Given the description of an element on the screen output the (x, y) to click on. 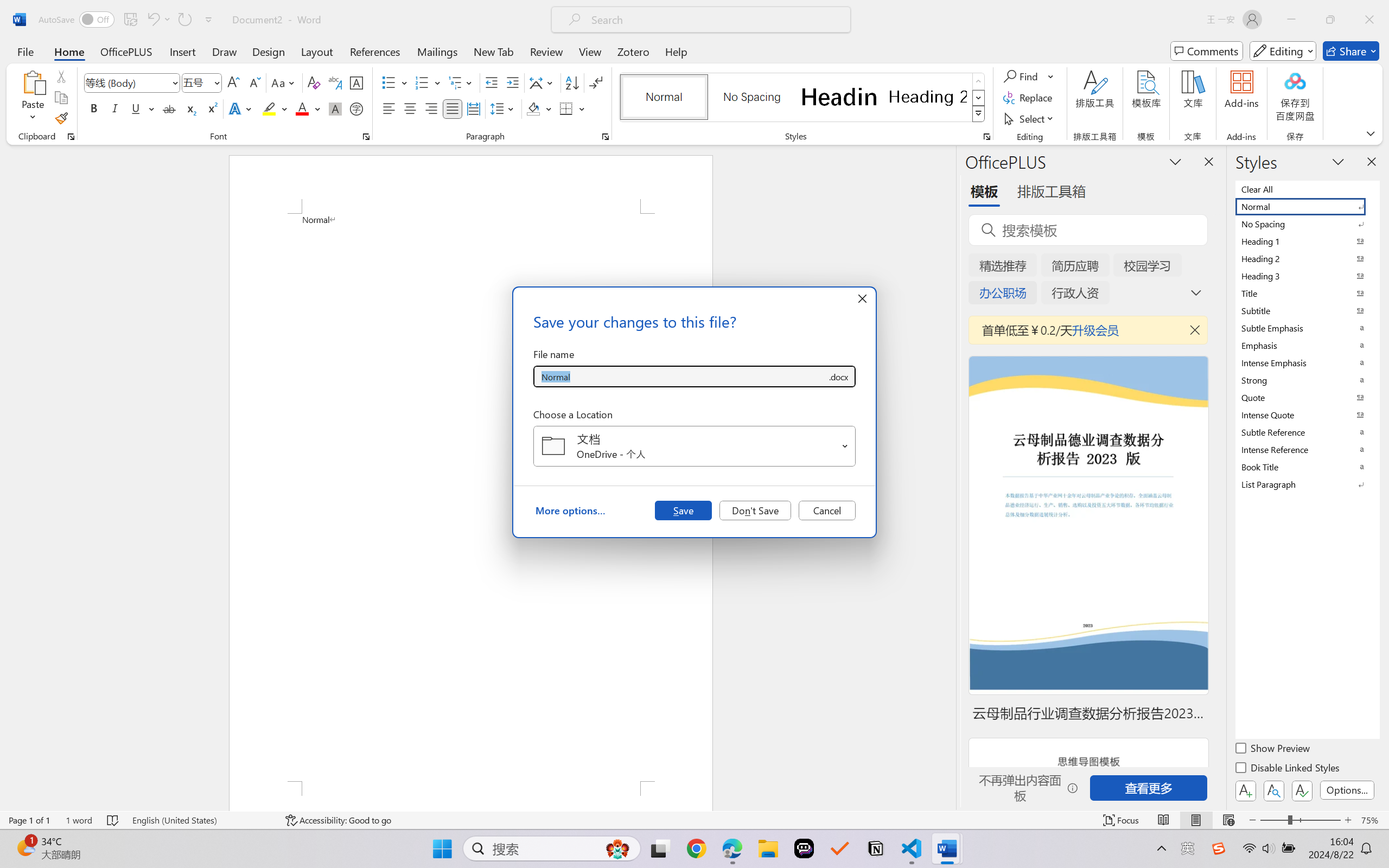
Intense Quote (1306, 414)
Web Layout (1228, 819)
Subtle Reference (1306, 431)
Bullets (395, 82)
Heading 1 (839, 96)
Spelling and Grammar Check No Errors (113, 819)
Zoom Out (1273, 819)
Task Pane Options (1175, 161)
Font... (365, 136)
File Tab (24, 51)
Undo Apply Quick Style (152, 19)
